Given the description of an element on the screen output the (x, y) to click on. 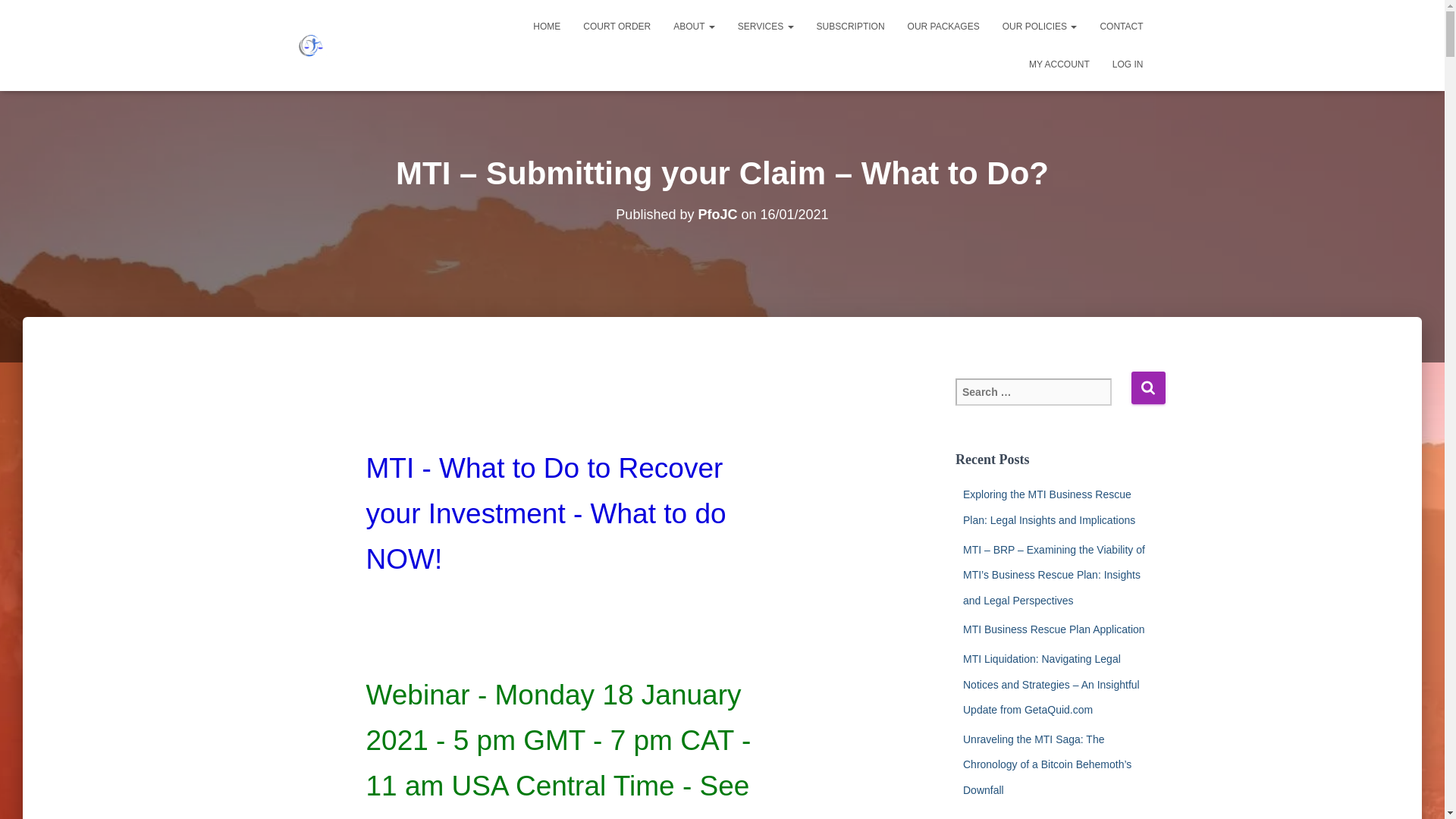
COURT ORDER (617, 26)
SERVICES (765, 26)
Search (1148, 387)
OUR PACKAGES (943, 26)
Services (765, 26)
LOG IN (1127, 64)
OUR POLICIES (1040, 26)
SUBSCRIPTION (850, 26)
PfoJC (716, 214)
About (693, 26)
MY ACCOUNT (1058, 64)
Search (1148, 387)
Home (546, 26)
ABOUT (693, 26)
Court Order (617, 26)
